Given the description of an element on the screen output the (x, y) to click on. 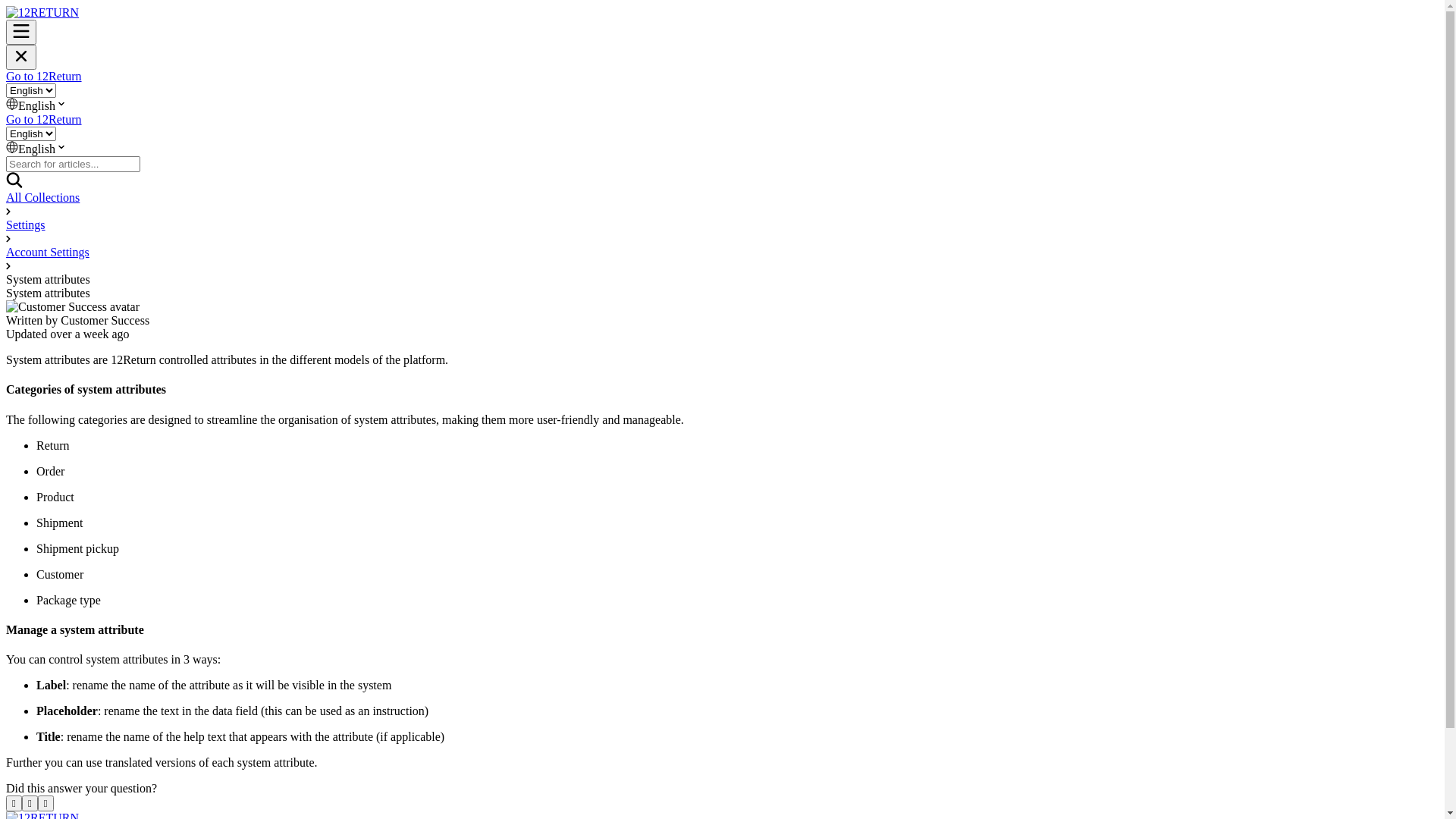
Settings Element type: text (25, 224)
Go to 12Return Element type: text (43, 75)
Account Settings Element type: text (47, 251)
Go to 12Return Element type: text (43, 118)
All Collections Element type: text (42, 197)
